Given the description of an element on the screen output the (x, y) to click on. 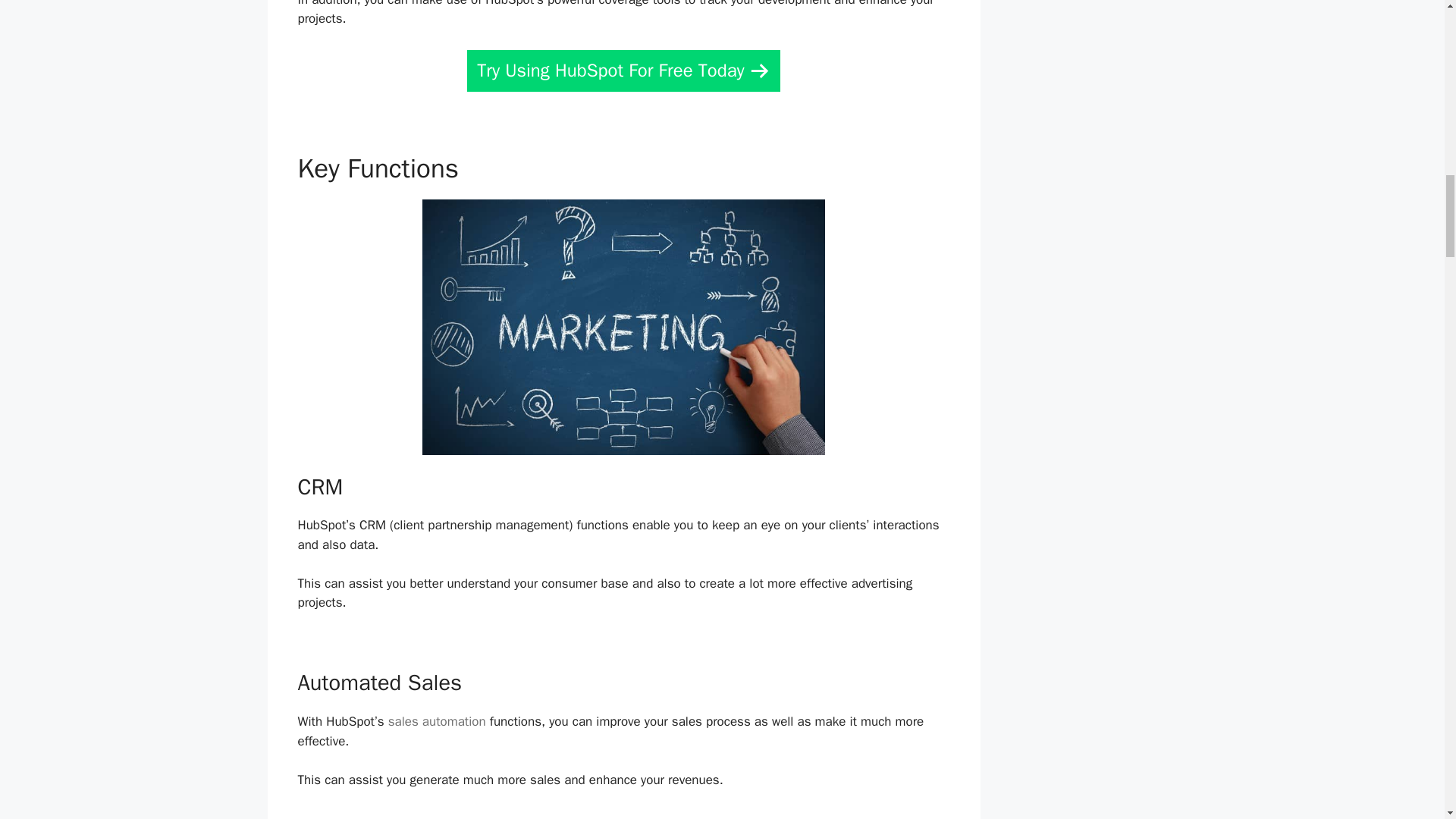
sales automation (437, 721)
Try Using HubSpot For Free Today (622, 70)
